Given the description of an element on the screen output the (x, y) to click on. 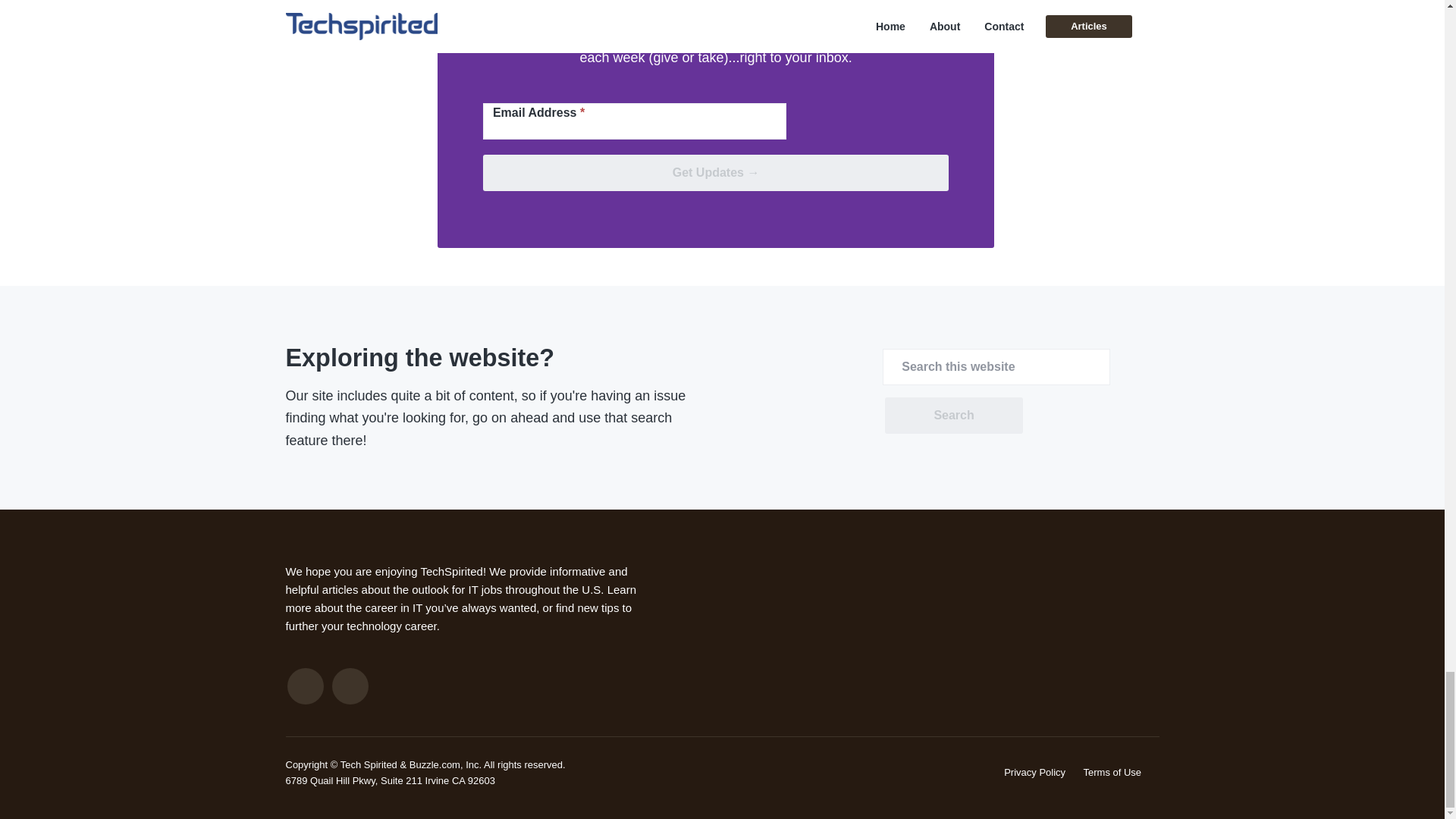
Search (953, 415)
Terms of Use (1112, 772)
Privacy Policy (1034, 772)
Search (953, 415)
Search (953, 415)
